Given the description of an element on the screen output the (x, y) to click on. 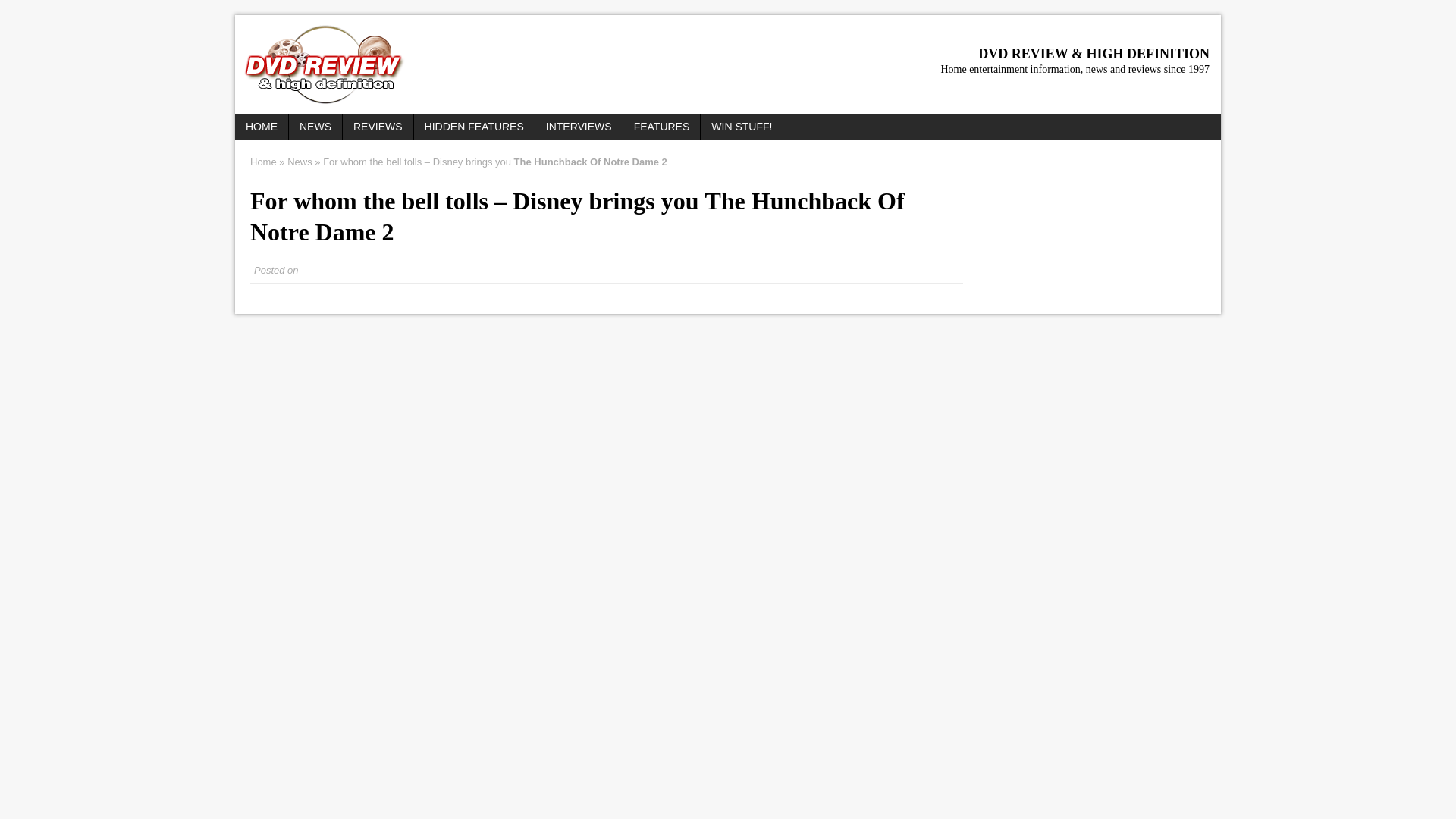
HIDDEN FEATURES (473, 126)
INTERVIEWS (579, 126)
NEWS (315, 126)
Home (263, 161)
News (299, 161)
WIN STUFF! (741, 126)
FEATURES (661, 126)
REVIEWS (377, 126)
HOME (261, 126)
